Given the description of an element on the screen output the (x, y) to click on. 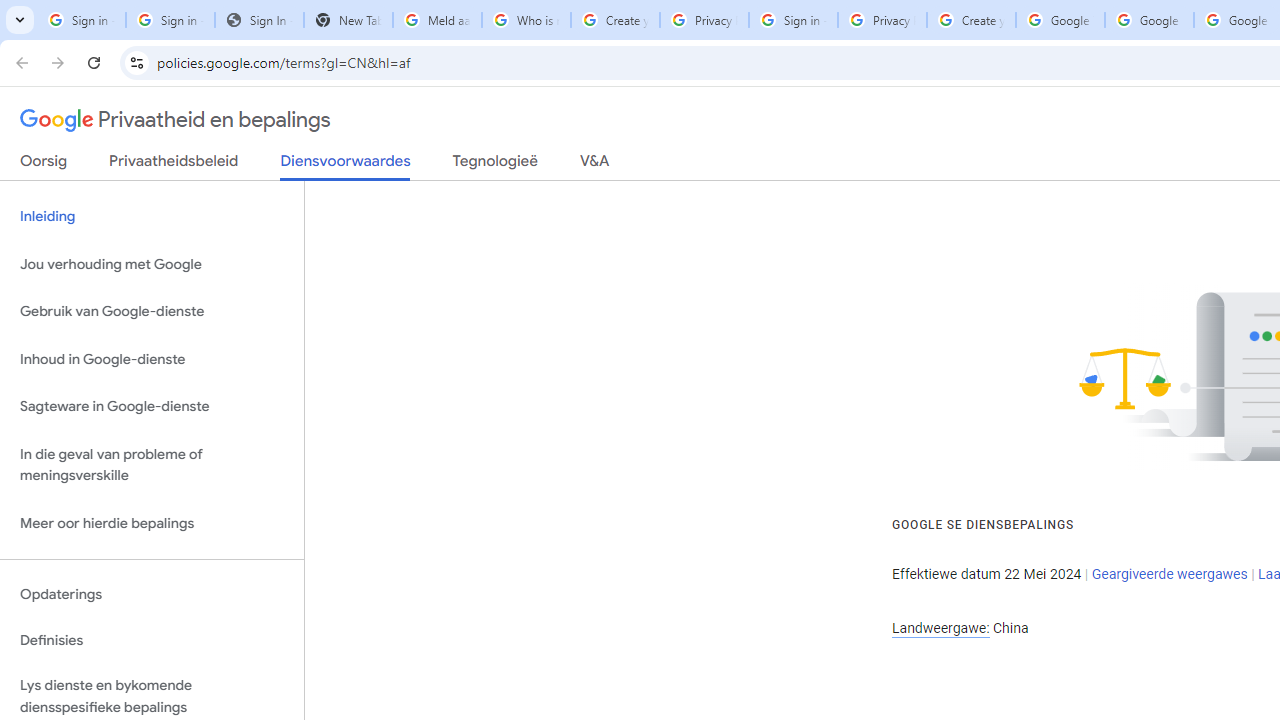
Geargiveerde weergawes (1169, 574)
Sagteware in Google-dienste (152, 407)
Definisies (152, 640)
Create your Google Account (971, 20)
Gebruik van Google-dienste (152, 312)
Sign In - USA TODAY (259, 20)
Oorsig (43, 165)
Inhoud in Google-dienste (152, 358)
Meer oor hierdie bepalings (152, 522)
